Given the description of an element on the screen output the (x, y) to click on. 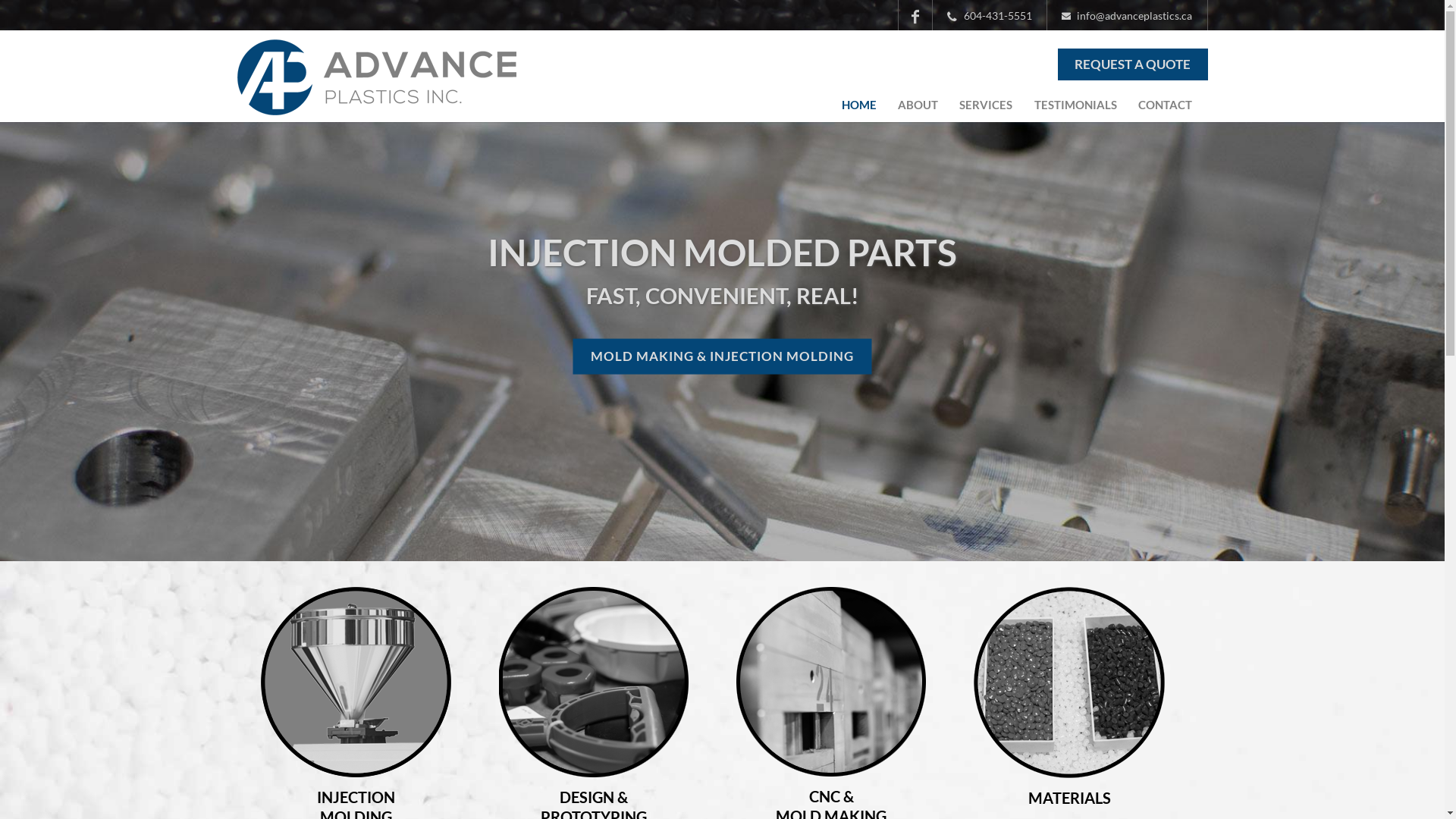
ABOUT Element type: text (917, 104)
Advance Plastics @ Facebook Element type: hover (914, 15)
MOLD MAKING & INJECTION MOLDING Element type: text (722, 356)
REQUEST A QUOTE Element type: text (1132, 63)
Advance Plastics - Home Element type: hover (375, 104)
TESTIMONIALS Element type: text (1075, 104)
604-431-5551 Element type: text (989, 15)
SERVICES Element type: text (985, 104)
MATERIALS Element type: text (1069, 797)
info@advanceplastics.ca Element type: text (1127, 15)
CONTACT Element type: text (1164, 104)
HOME Element type: text (858, 104)
